Given the description of an element on the screen output the (x, y) to click on. 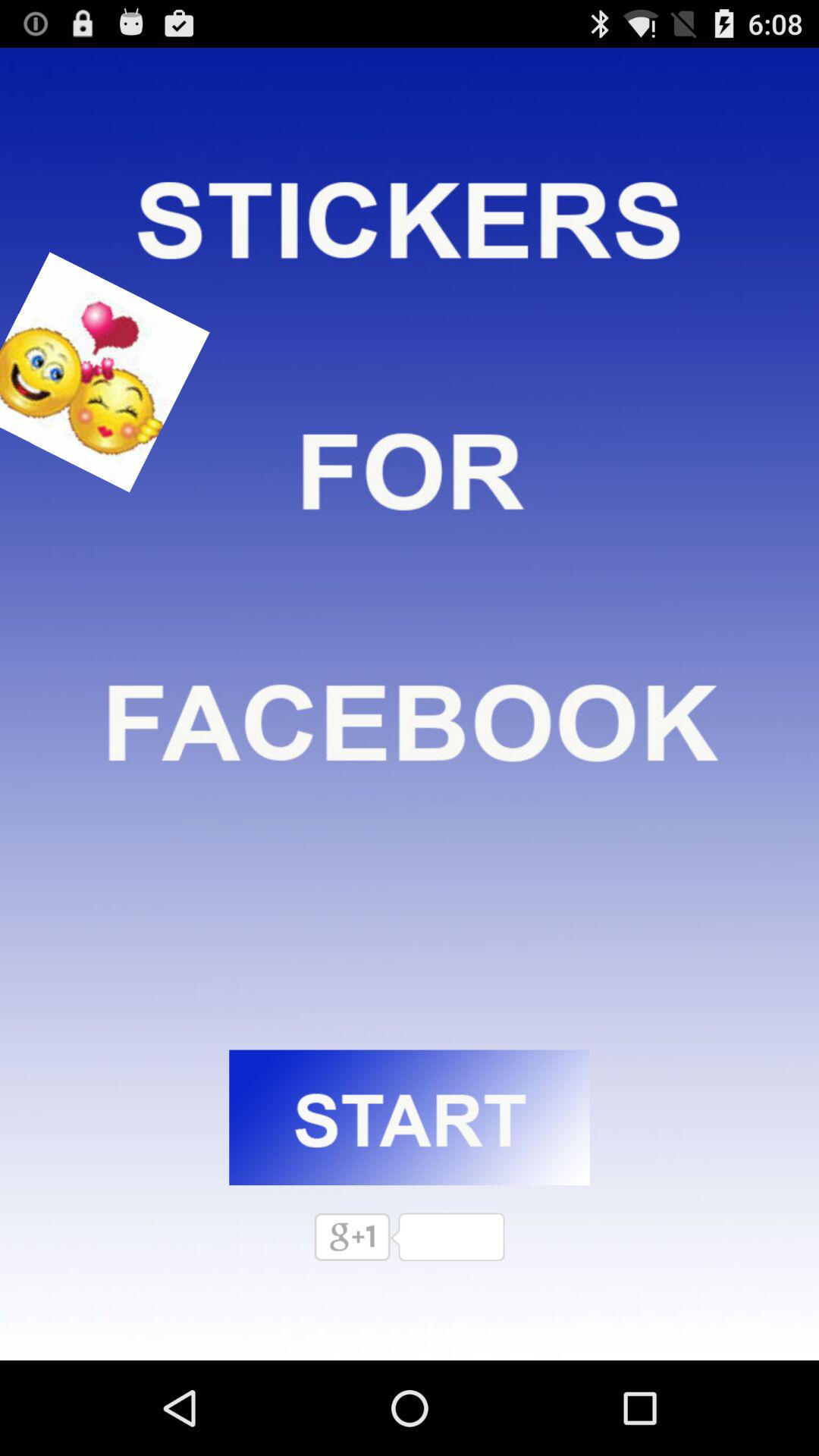
smile (89, 371)
